Given the description of an element on the screen output the (x, y) to click on. 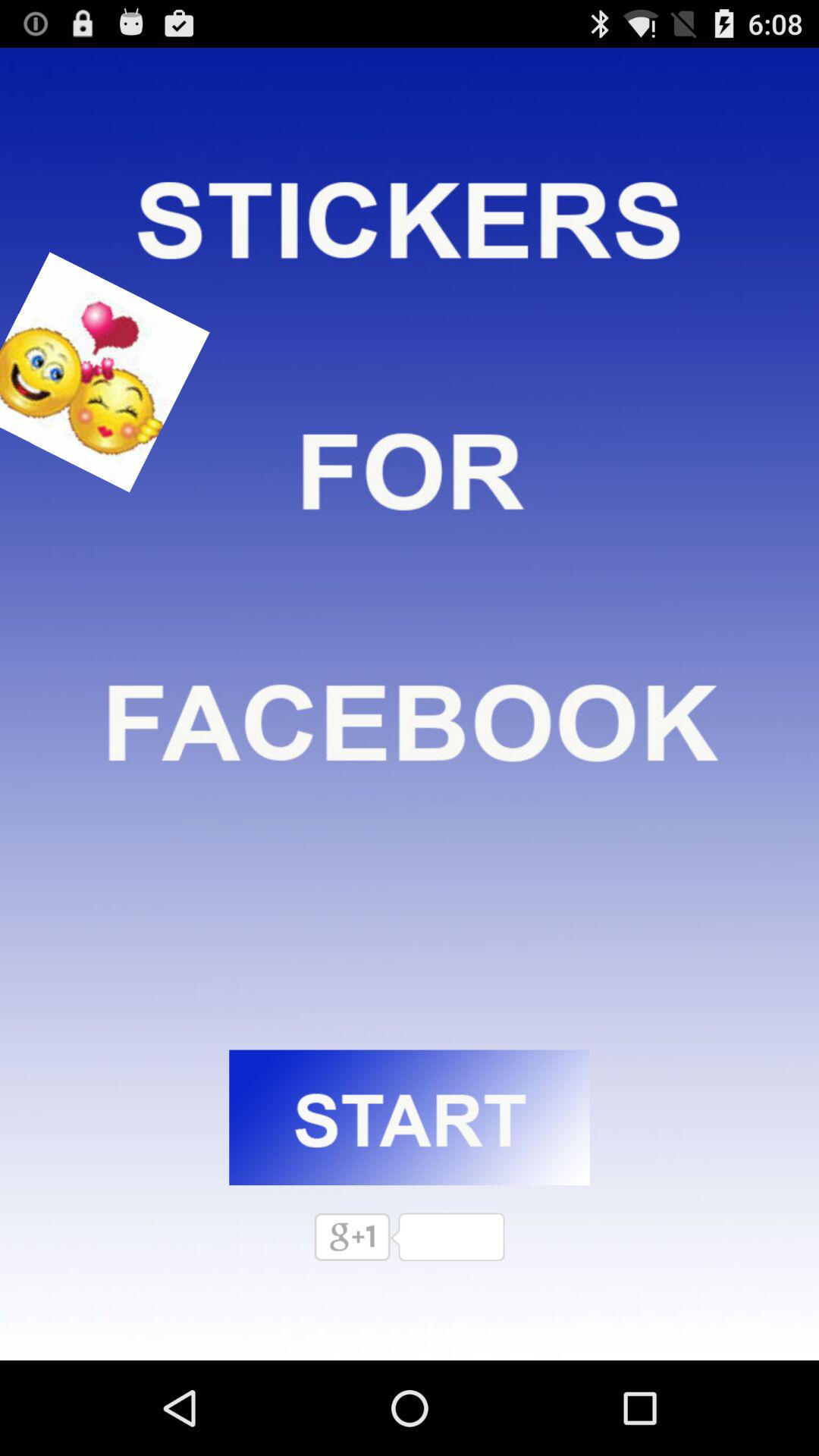
smile (89, 371)
